Given the description of an element on the screen output the (x, y) to click on. 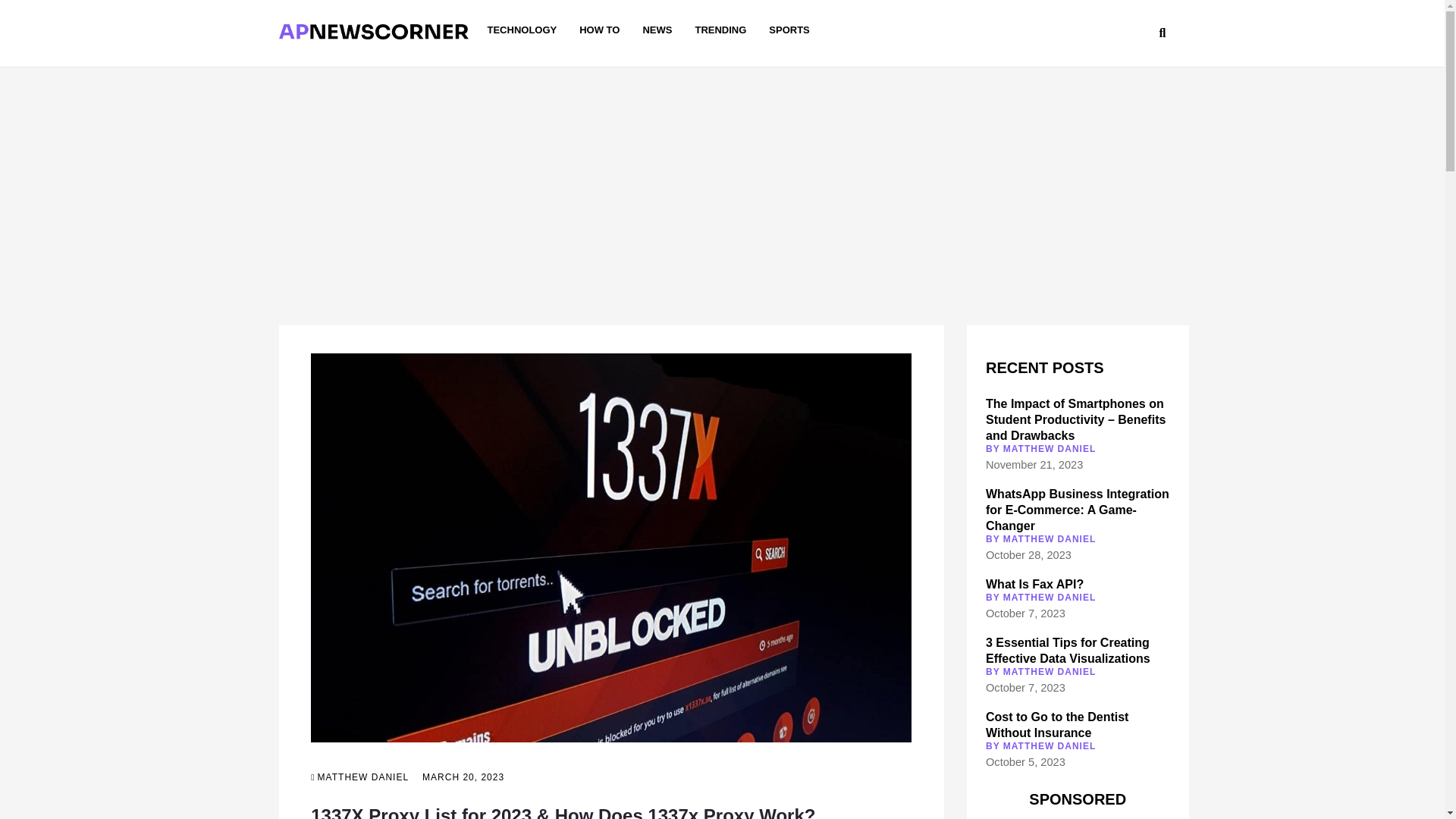
Cost to Go to the Dentist Without Insurance (1056, 724)
HOW TO (599, 30)
TECHNOLOGY (521, 30)
TRENDING (719, 30)
SPORTS (788, 30)
WhatsApp Business Integration for E-Commerce: A Game-Changer (1077, 509)
Search (1094, 35)
3 Essential Tips for Creating Effective Data Visualizations (1067, 650)
NEWS (656, 30)
What Is Fax API? (1034, 584)
